Given the description of an element on the screen output the (x, y) to click on. 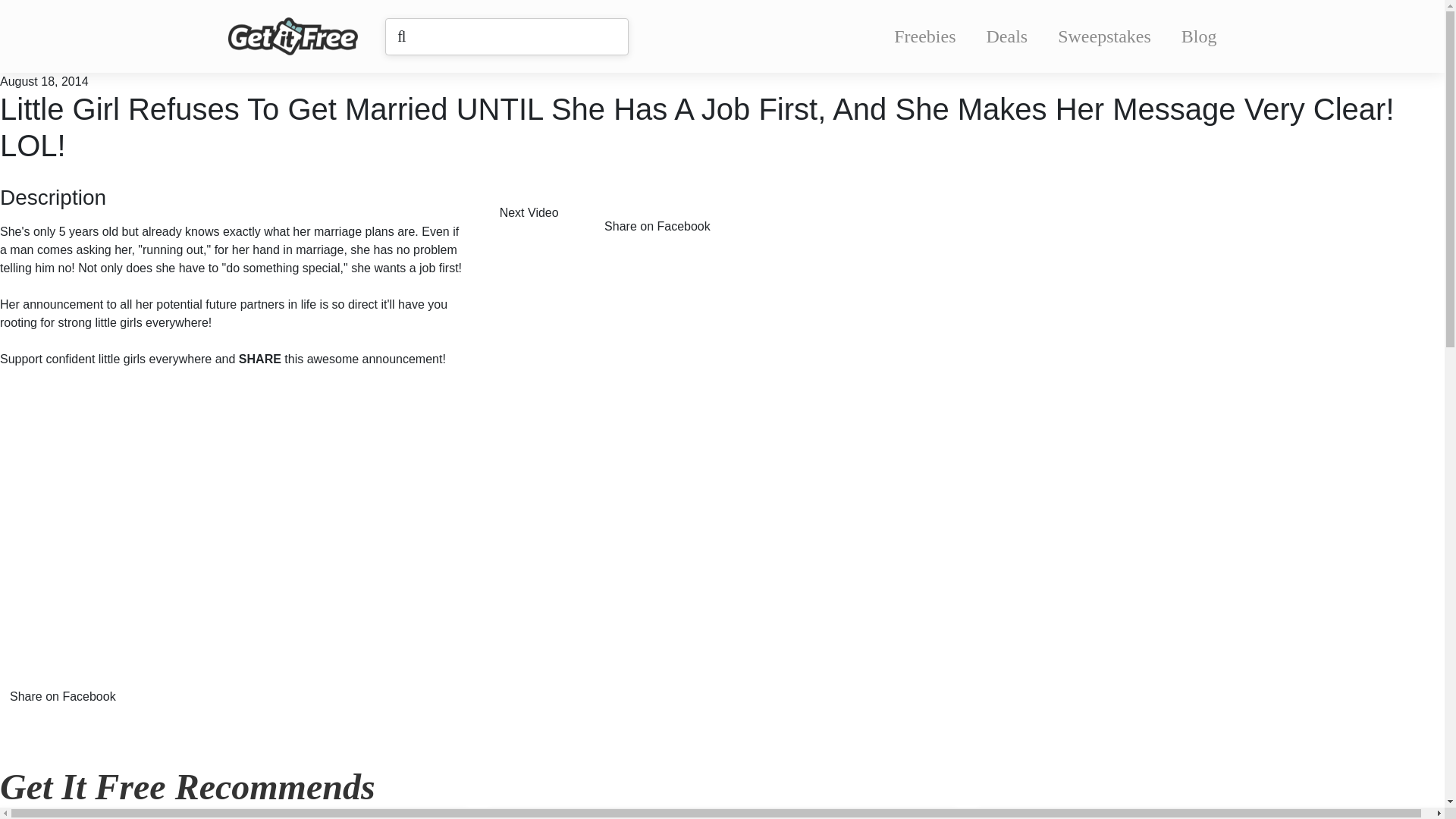
Blog (1198, 35)
Sweepstakes (1104, 35)
Freebies (924, 35)
Share on Facebook (74, 685)
Share on Facebook (668, 215)
Deals (1007, 35)
Next Video (540, 215)
